Given the description of an element on the screen output the (x, y) to click on. 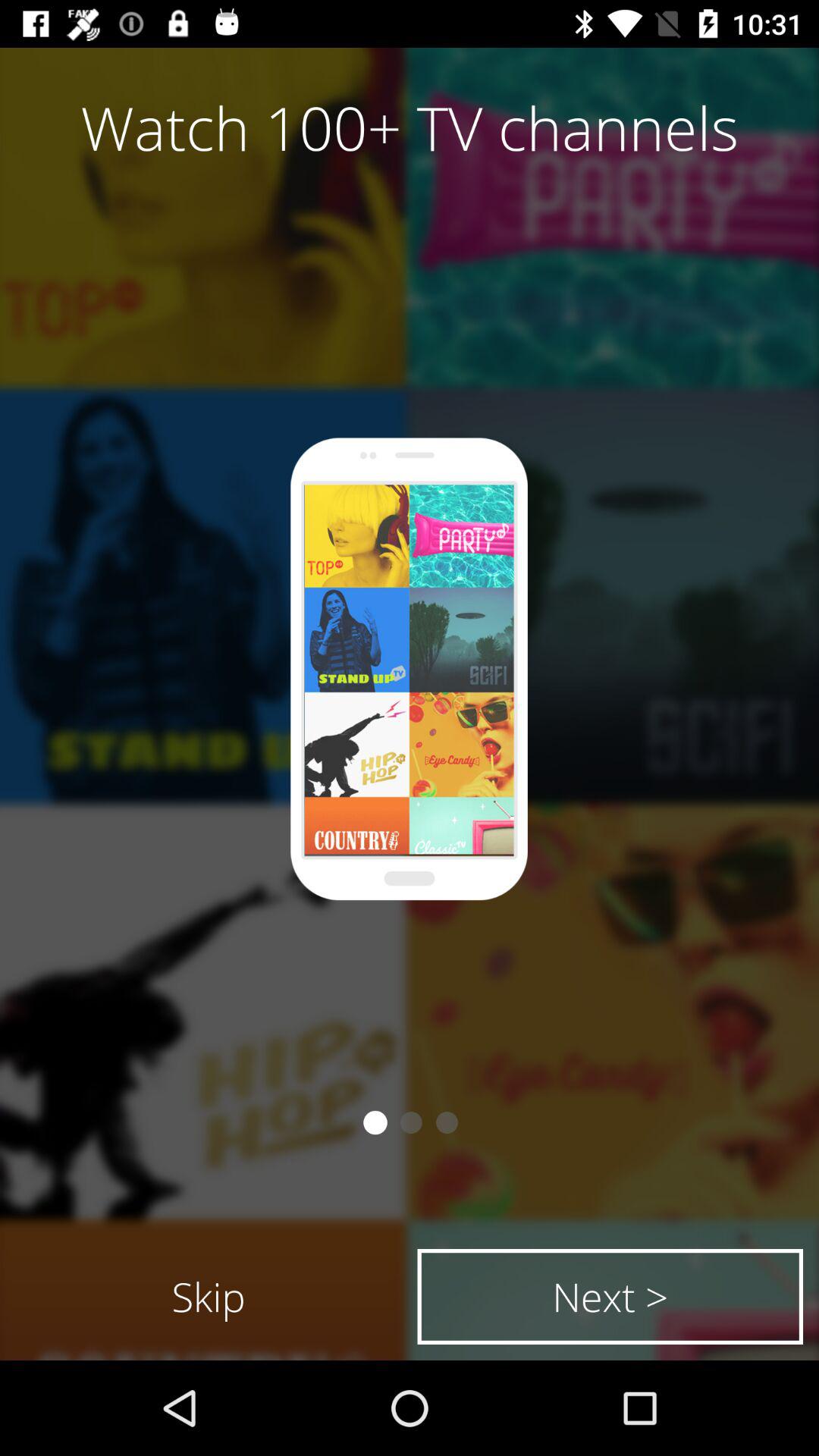
press the next > item (610, 1296)
